Given the description of an element on the screen output the (x, y) to click on. 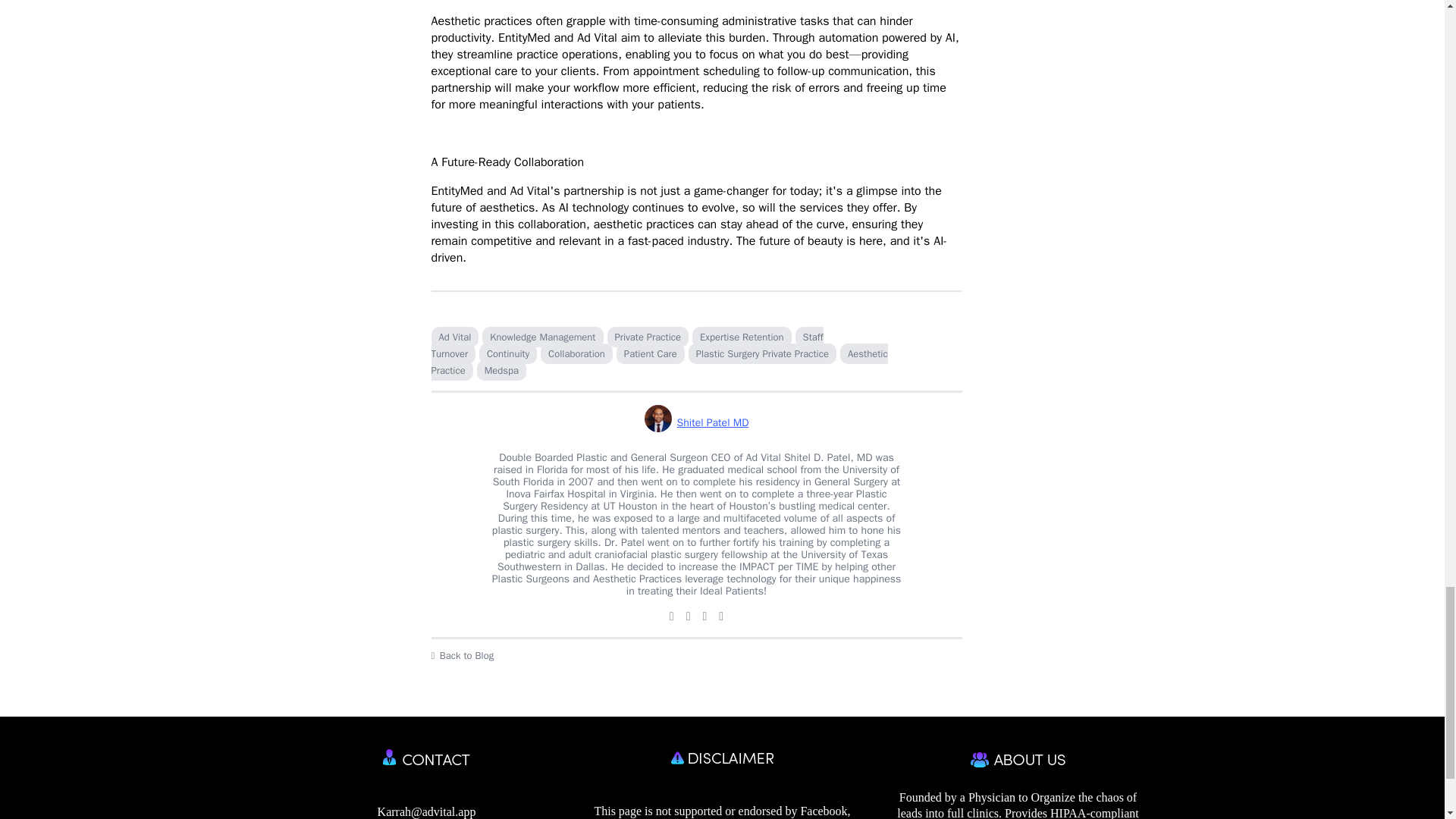
Shitel Patel MD (697, 422)
Back to Blog (695, 655)
